Given the description of an element on the screen output the (x, y) to click on. 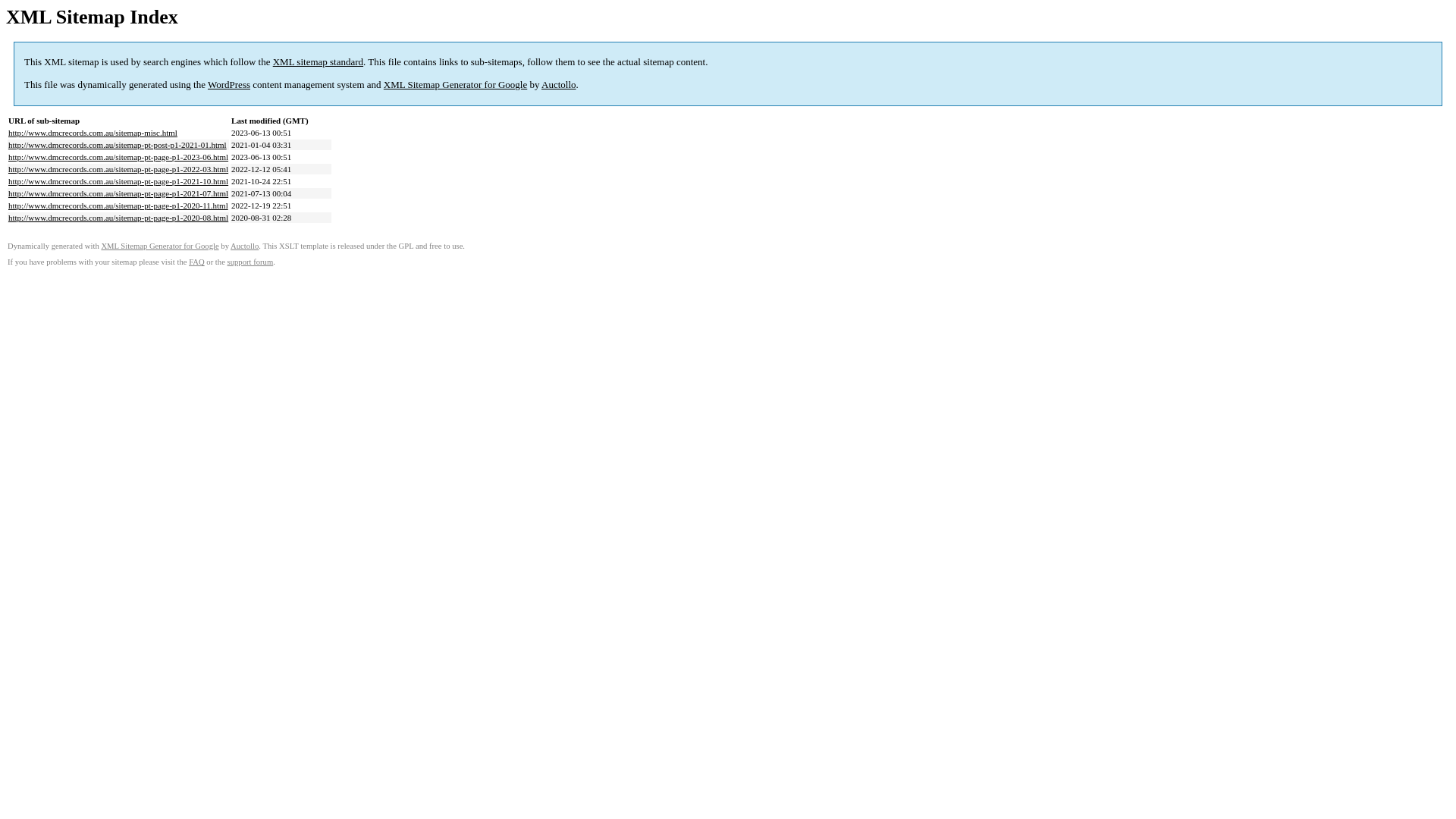
XML Sitemap Generator for Google Element type: text (455, 84)
support forum Element type: text (250, 261)
http://www.dmcrecords.com.au/sitemap-pt-page-p1-2021-10.html Element type: text (118, 180)
http://www.dmcrecords.com.au/sitemap-pt-page-p1-2022-03.html Element type: text (118, 168)
Auctollo Element type: text (558, 84)
http://www.dmcrecords.com.au/sitemap-pt-page-p1-2020-08.html Element type: text (118, 217)
FAQ Element type: text (196, 261)
WordPress Element type: text (228, 84)
http://www.dmcrecords.com.au/sitemap-pt-post-p1-2021-01.html Element type: text (117, 144)
XML Sitemap Generator for Google Element type: text (159, 245)
http://www.dmcrecords.com.au/sitemap-pt-page-p1-2023-06.html Element type: text (118, 156)
http://www.dmcrecords.com.au/sitemap-misc.html Element type: text (92, 132)
XML sitemap standard Element type: text (318, 61)
Auctollo Element type: text (244, 245)
http://www.dmcrecords.com.au/sitemap-pt-page-p1-2020-11.html Element type: text (118, 205)
http://www.dmcrecords.com.au/sitemap-pt-page-p1-2021-07.html Element type: text (118, 192)
